Given the description of an element on the screen output the (x, y) to click on. 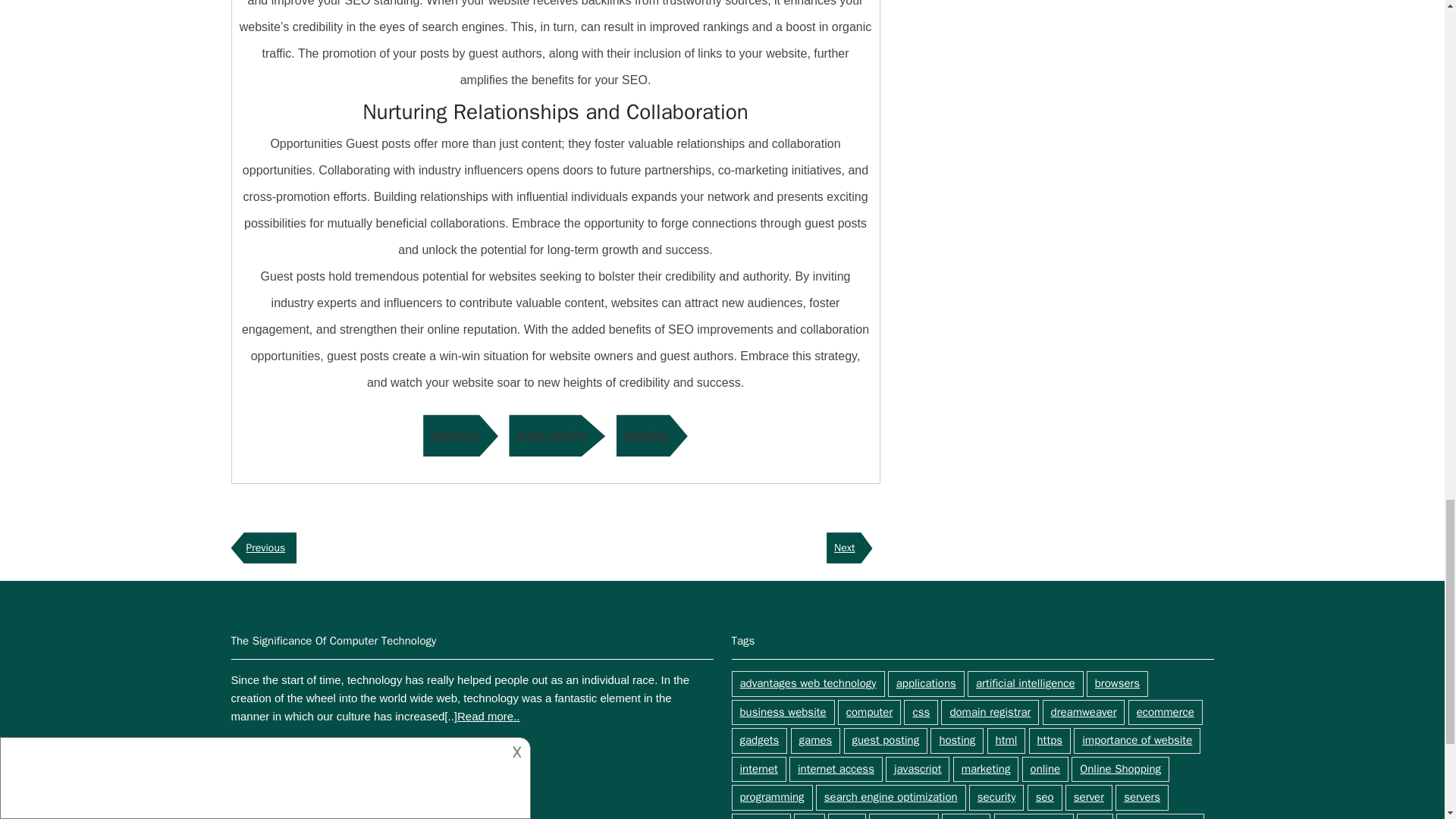
backlinks (460, 435)
computer (869, 712)
applications (925, 683)
Read more.. (488, 716)
internet access (835, 769)
browsers (1117, 683)
artificial intelligence (1025, 683)
websites (651, 435)
ecommerce (1165, 712)
dreamweaver (1083, 712)
